Given the description of an element on the screen output the (x, y) to click on. 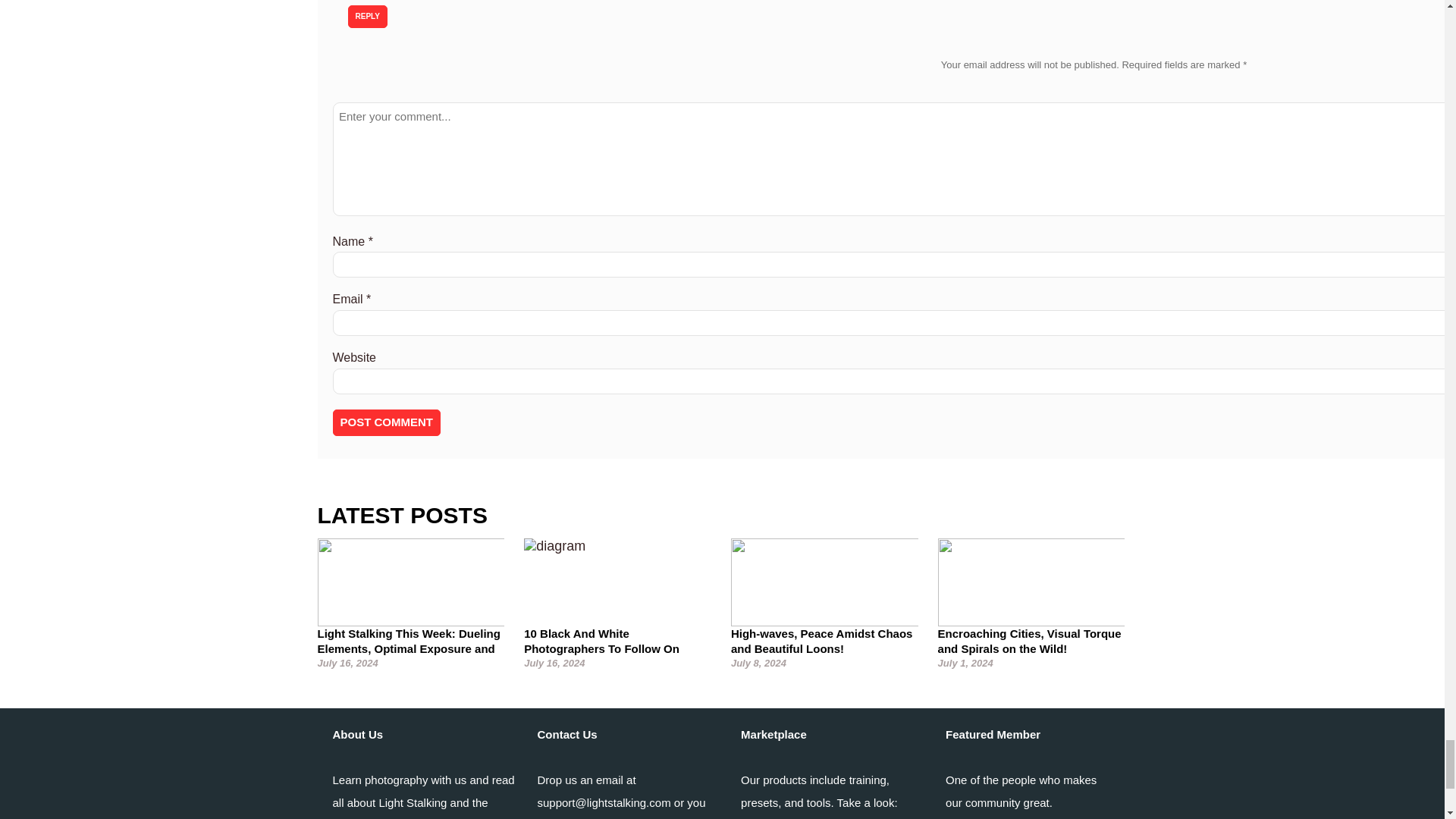
REPLY (367, 15)
Post Comment (386, 422)
